Given the description of an element on the screen output the (x, y) to click on. 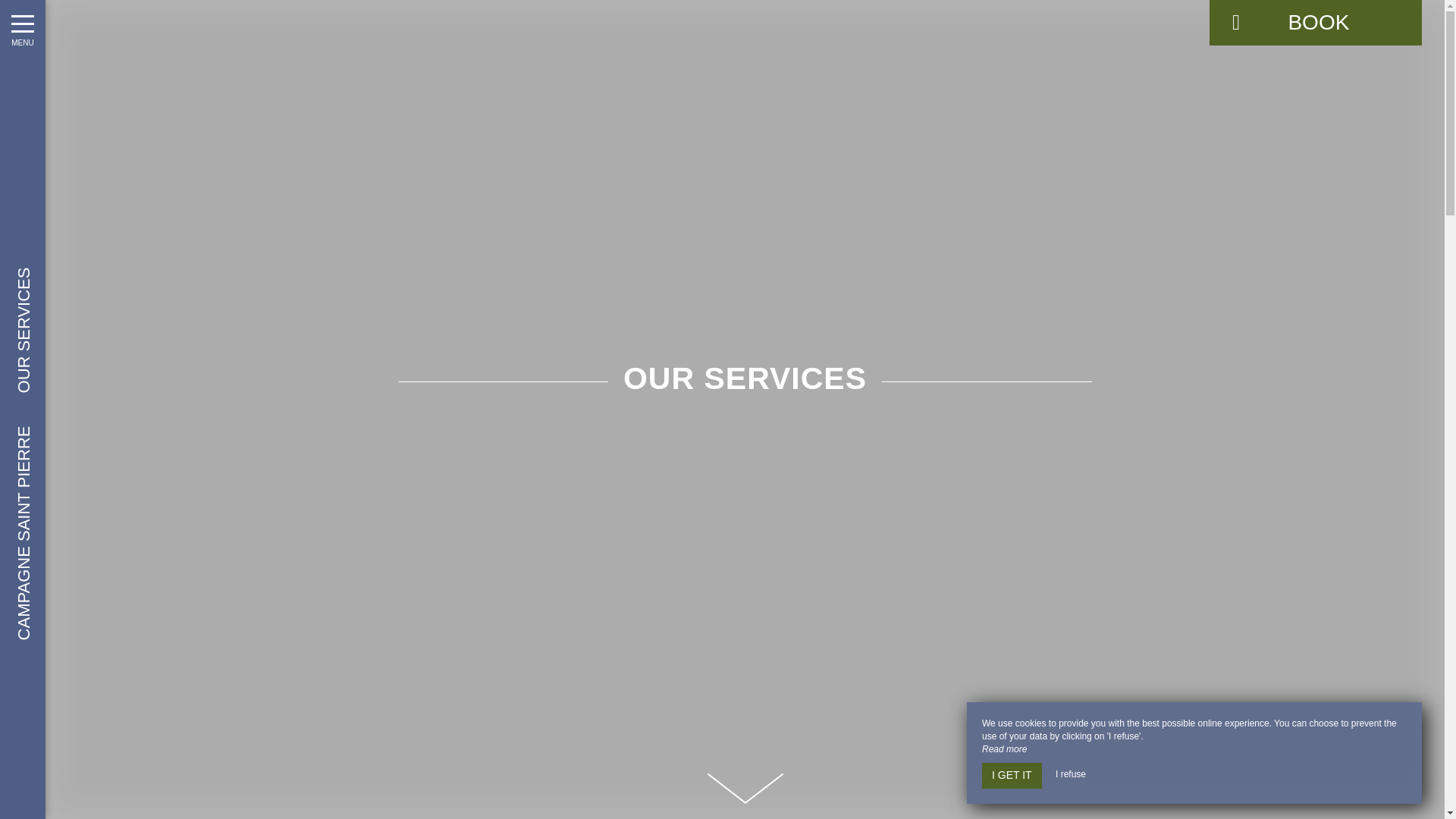
I GET IT (1011, 775)
